Given the description of an element on the screen output the (x, y) to click on. 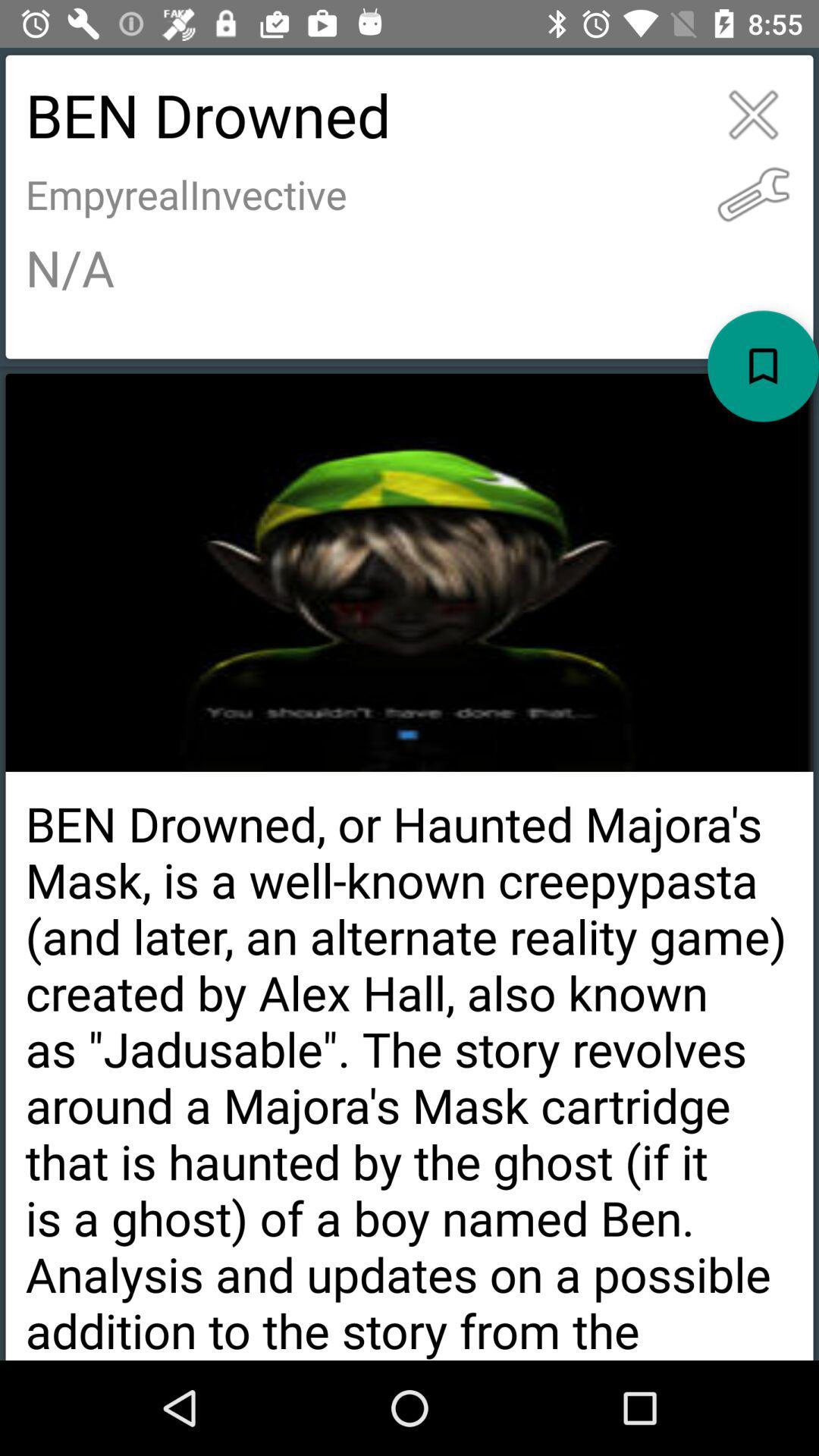
open the icon above ben drowned or icon (763, 366)
